Given the description of an element on the screen output the (x, y) to click on. 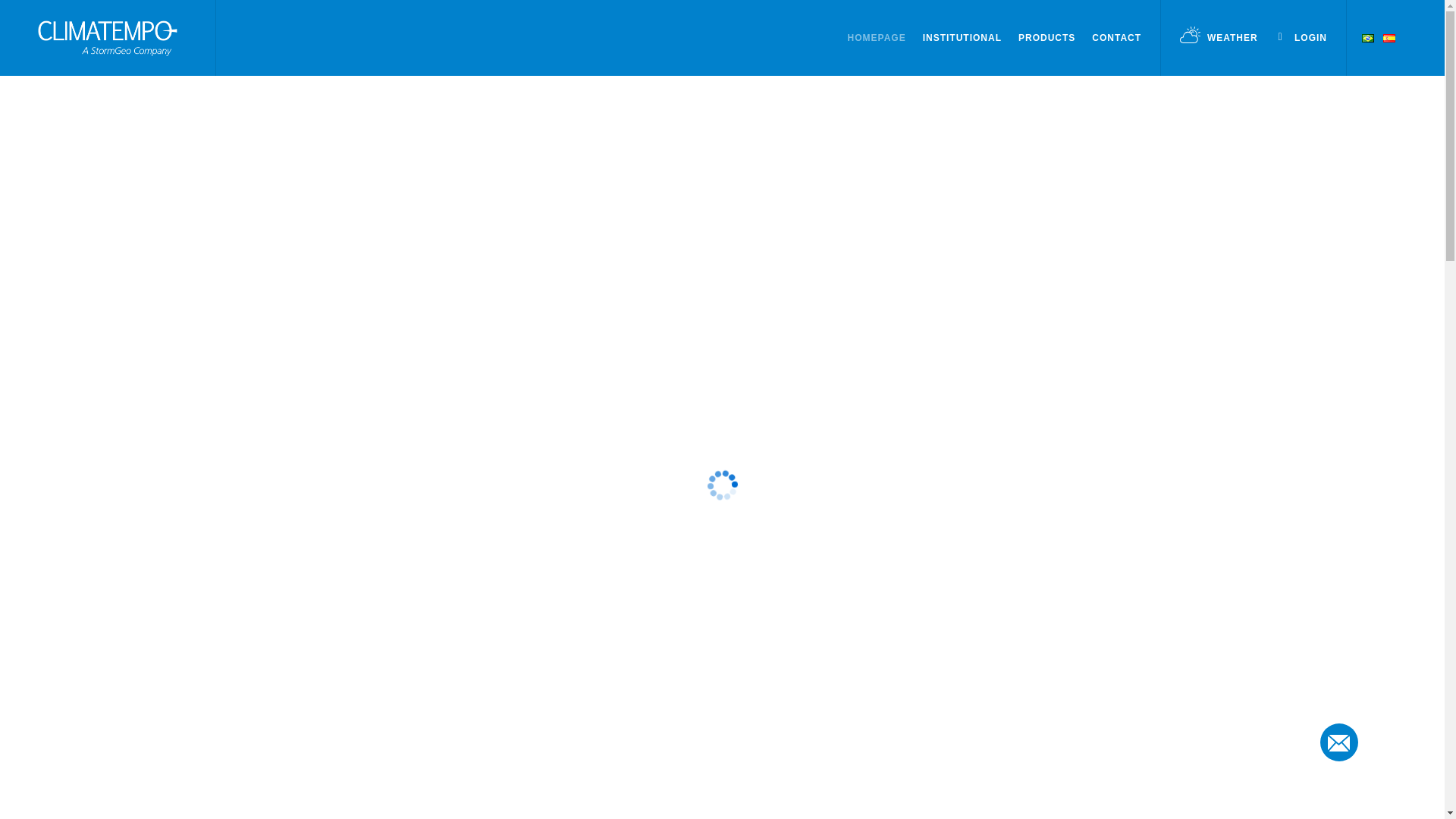
HOMEPAGE (877, 38)
WEATHER (1218, 38)
PRODUCTS (1046, 38)
Weather forecast for all of Brazil (1218, 38)
LOGIN (1300, 38)
INSTITUTIONAL (962, 38)
